Given the description of an element on the screen output the (x, y) to click on. 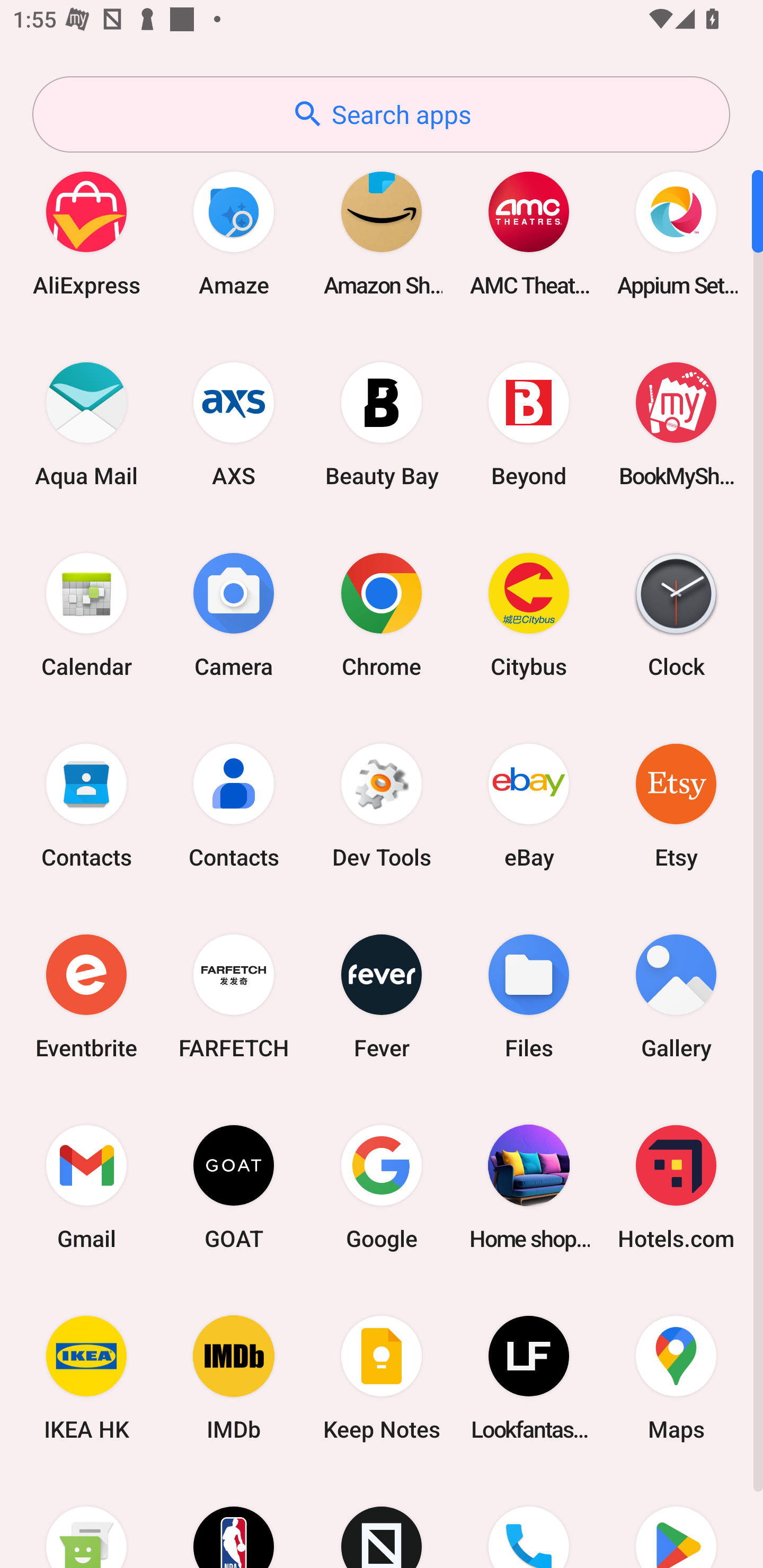
  Search apps (381, 114)
AliExpress (86, 233)
Amaze (233, 233)
Amazon Shopping (381, 233)
AMC Theatres (528, 233)
Appium Settings (676, 233)
Aqua Mail (86, 424)
AXS (233, 424)
Beauty Bay (381, 424)
Beyond (528, 424)
BookMyShow (676, 424)
Calendar (86, 614)
Camera (233, 614)
Chrome (381, 614)
Citybus (528, 614)
Clock (676, 614)
Contacts (86, 805)
Contacts (233, 805)
Dev Tools (381, 805)
eBay (528, 805)
Etsy (676, 805)
Eventbrite (86, 996)
FARFETCH (233, 996)
Fever (381, 996)
Files (528, 996)
Gallery (676, 996)
Gmail (86, 1186)
GOAT (233, 1186)
Google (381, 1186)
Home shopping (528, 1186)
Hotels.com (676, 1186)
IKEA HK (86, 1377)
IMDb (233, 1377)
Keep Notes (381, 1377)
Lookfantastic (528, 1377)
Maps (676, 1377)
Messaging (86, 1520)
NBA (233, 1520)
Novelship (381, 1520)
Phone (528, 1520)
Play Store (676, 1520)
